Given the description of an element on the screen output the (x, y) to click on. 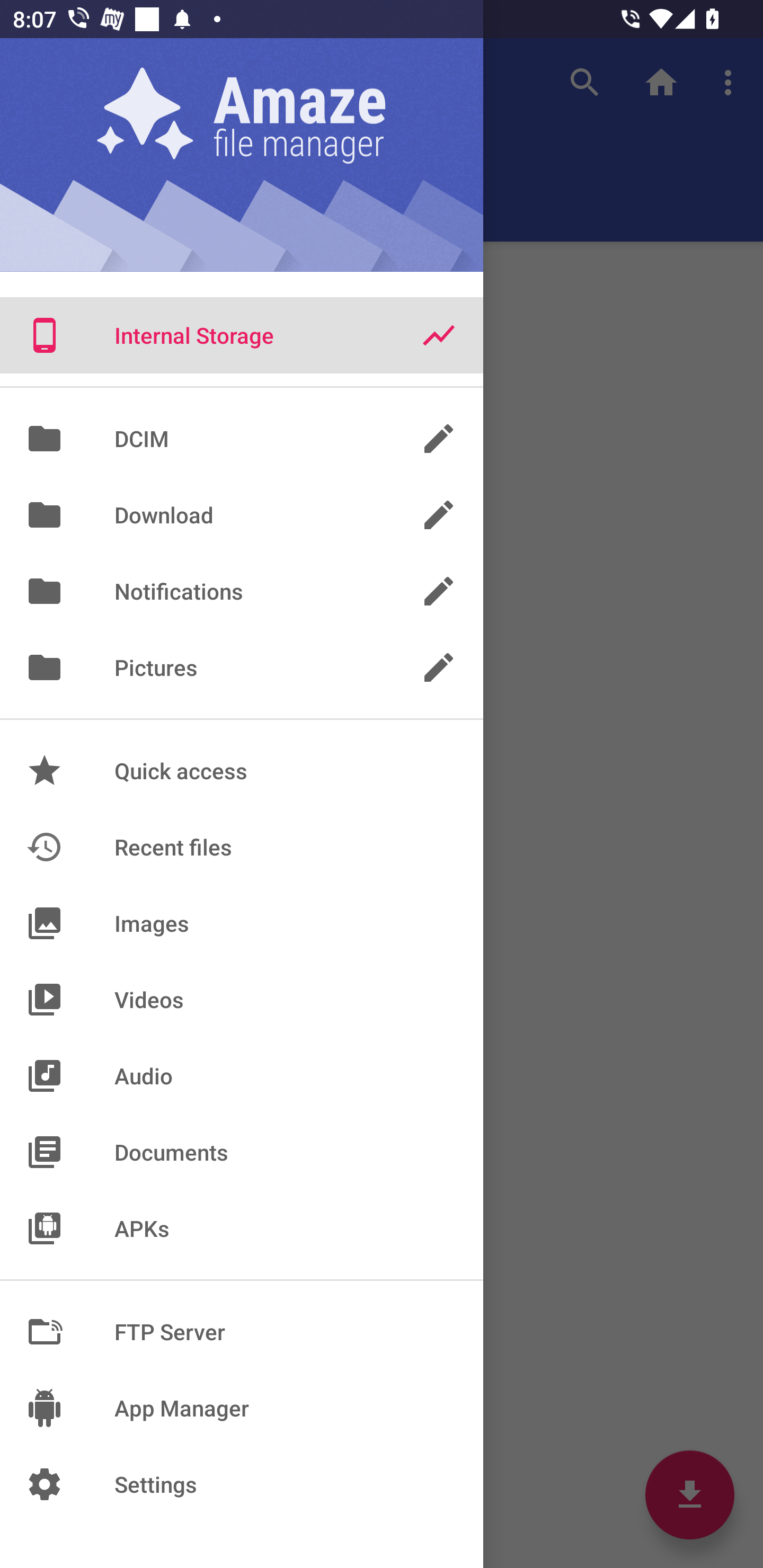
Internal Storage (241, 335)
DCIM (241, 437)
Download (241, 514)
Notifications (241, 590)
Pictures (241, 666)
Quick access (241, 770)
Recent files (241, 847)
Images (241, 923)
Videos (241, 999)
Audio (241, 1075)
Documents (241, 1151)
APKs (241, 1228)
FTP Server (241, 1331)
App Manager (241, 1407)
Settings (241, 1483)
